Given the description of an element on the screen output the (x, y) to click on. 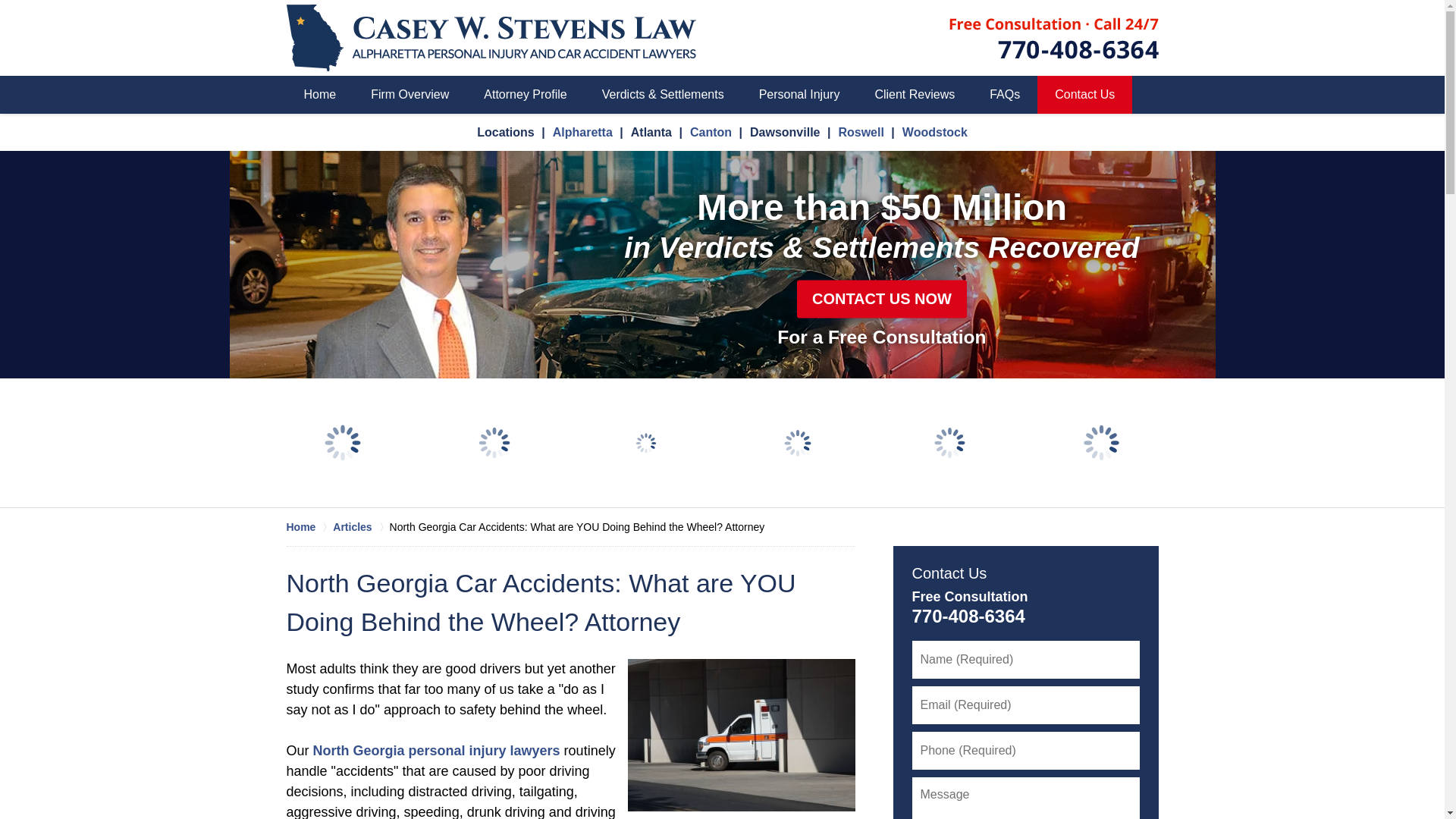
FAQs (1004, 94)
Firm Overview (409, 94)
Woodstock (935, 132)
CONTACT US NOW (881, 298)
Home (309, 526)
Personal Injury (799, 94)
Articles (360, 526)
Back to Home (490, 37)
